Given the description of an element on the screen output the (x, y) to click on. 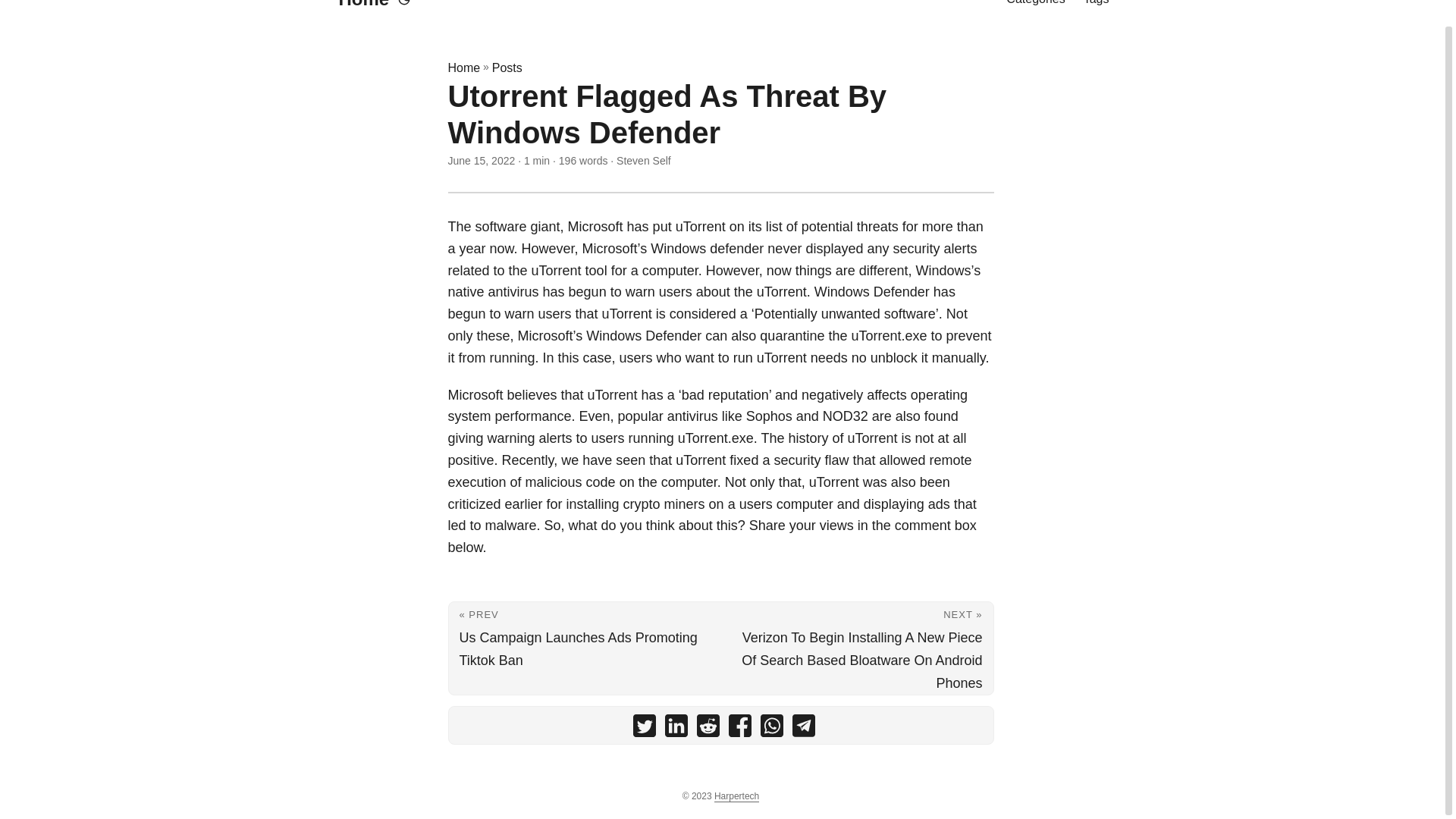
Categories (1035, 11)
Harpertech (736, 796)
Tags (1096, 11)
Categories (1035, 11)
Posts (507, 67)
Home (463, 67)
Tags (1096, 11)
Home (359, 11)
